Given the description of an element on the screen output the (x, y) to click on. 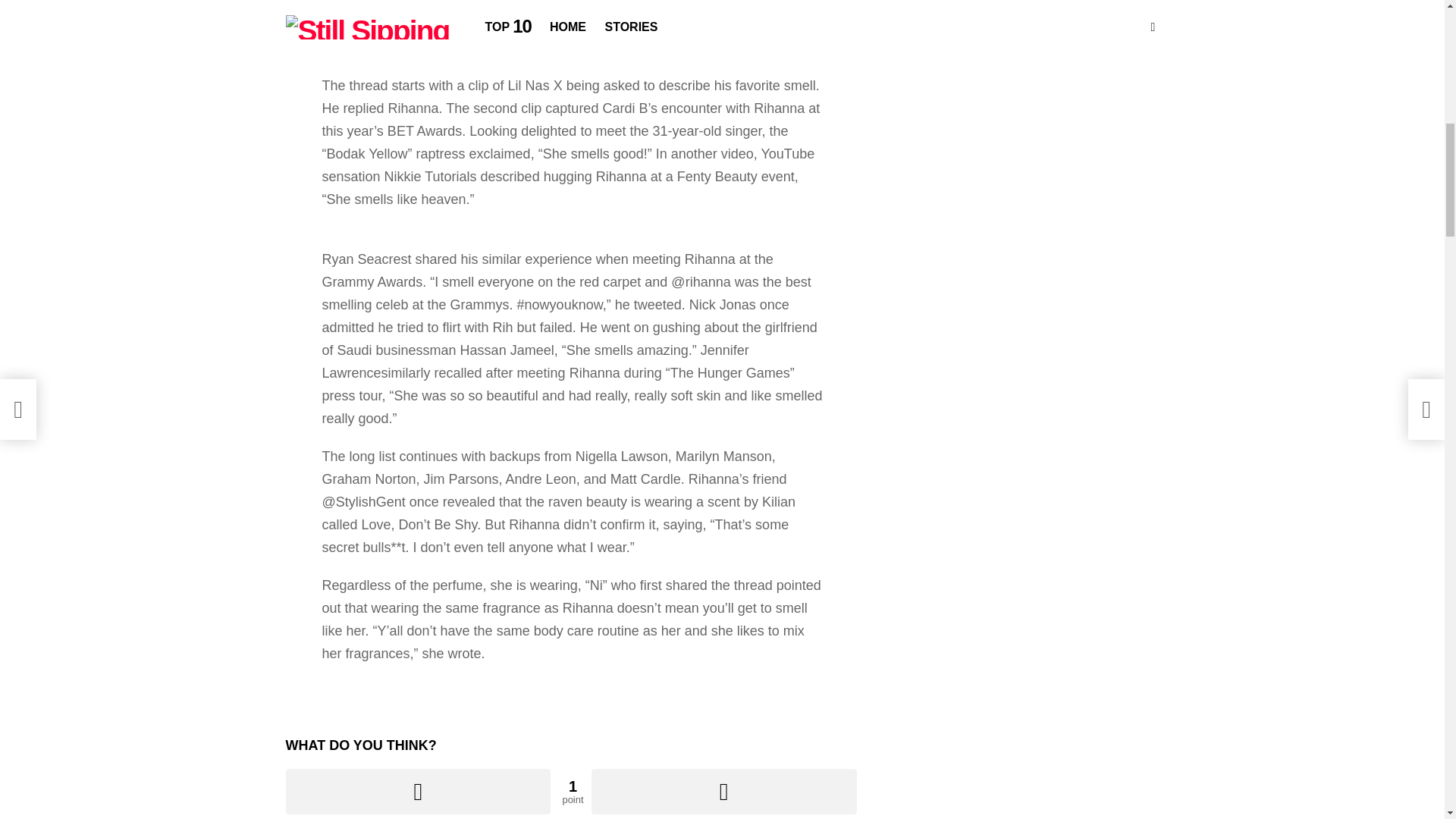
Downvote (724, 791)
Upvote (417, 791)
Upvote (417, 791)
Downvote (724, 791)
